Given the description of an element on the screen output the (x, y) to click on. 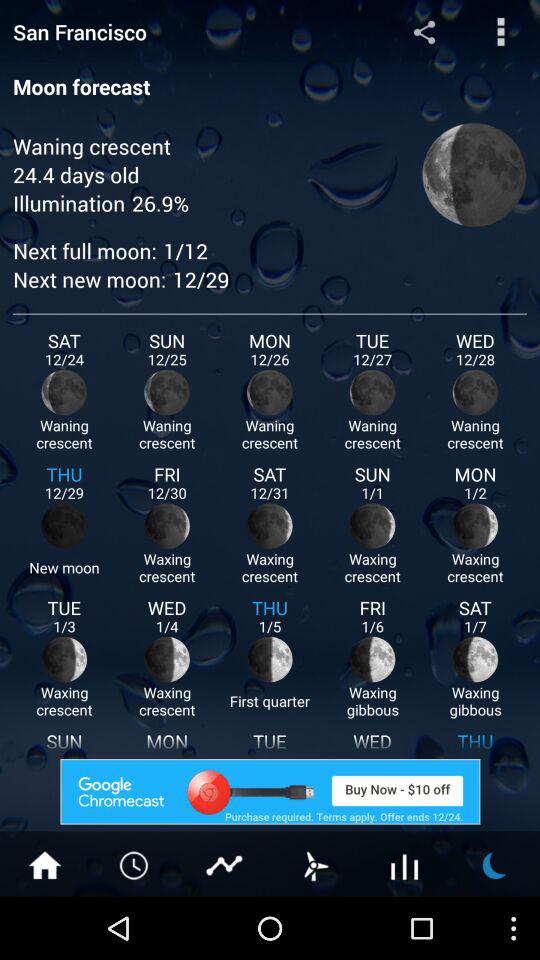
go to menu button (500, 31)
